Given the description of an element on the screen output the (x, y) to click on. 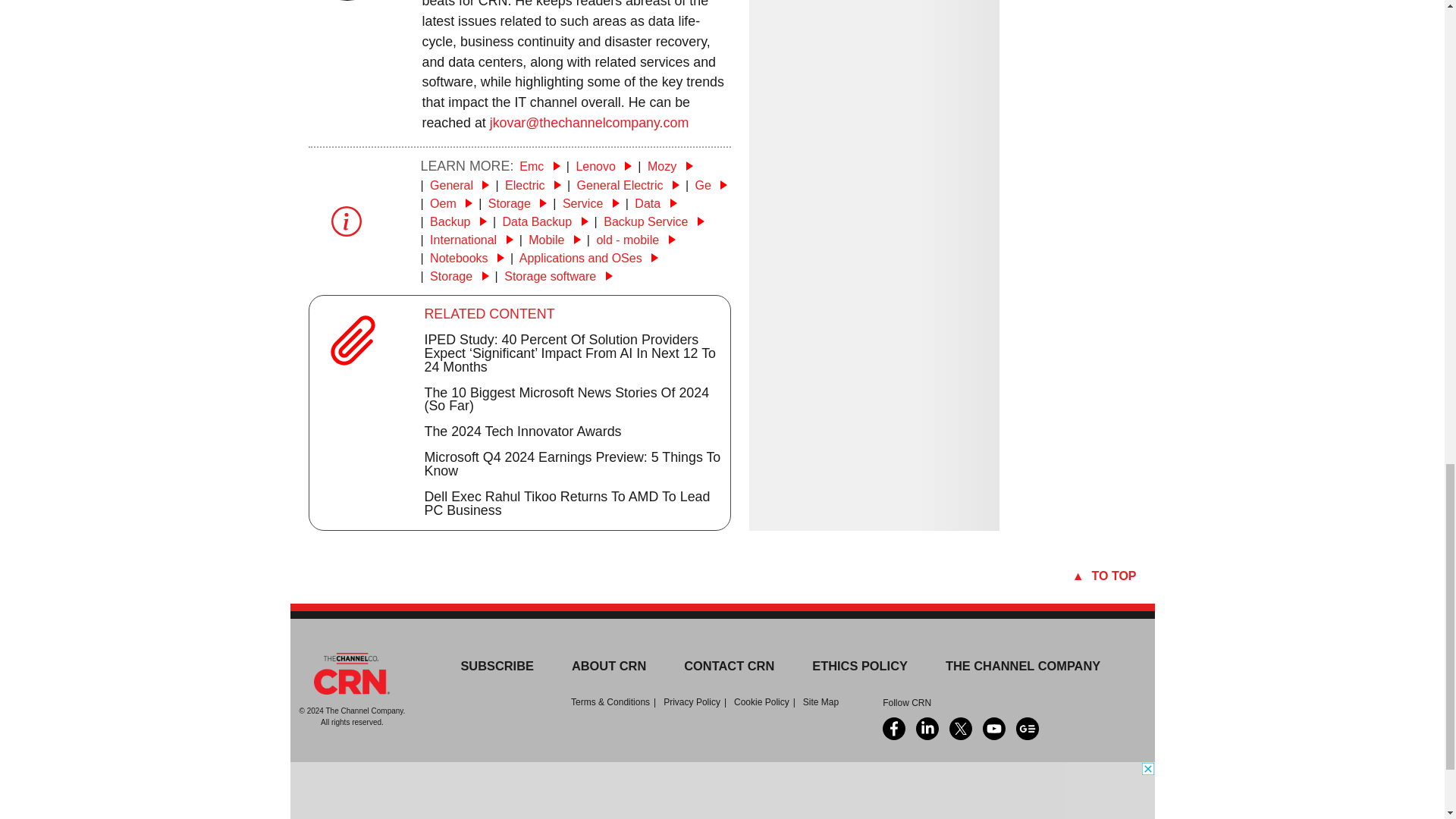
Lenovo (603, 165)
Electric (532, 185)
Ge (710, 185)
Service (591, 203)
Emc (539, 165)
General (459, 185)
General Electric (627, 185)
Joseph F. Kovar (346, 2)
Mozy (670, 165)
Storage (517, 203)
